Given the description of an element on the screen output the (x, y) to click on. 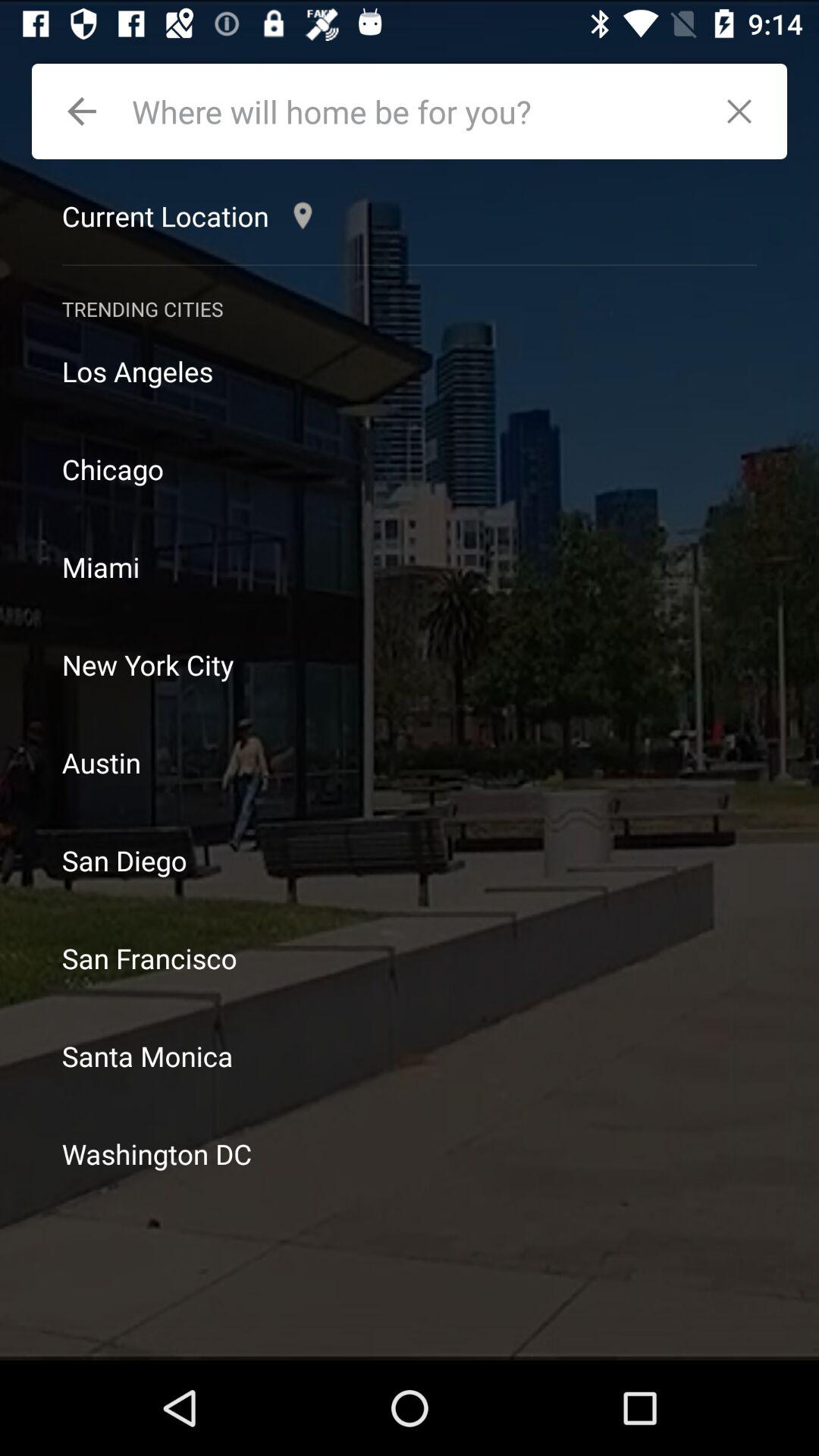
turn off item below the chicago icon (409, 566)
